Given the description of an element on the screen output the (x, y) to click on. 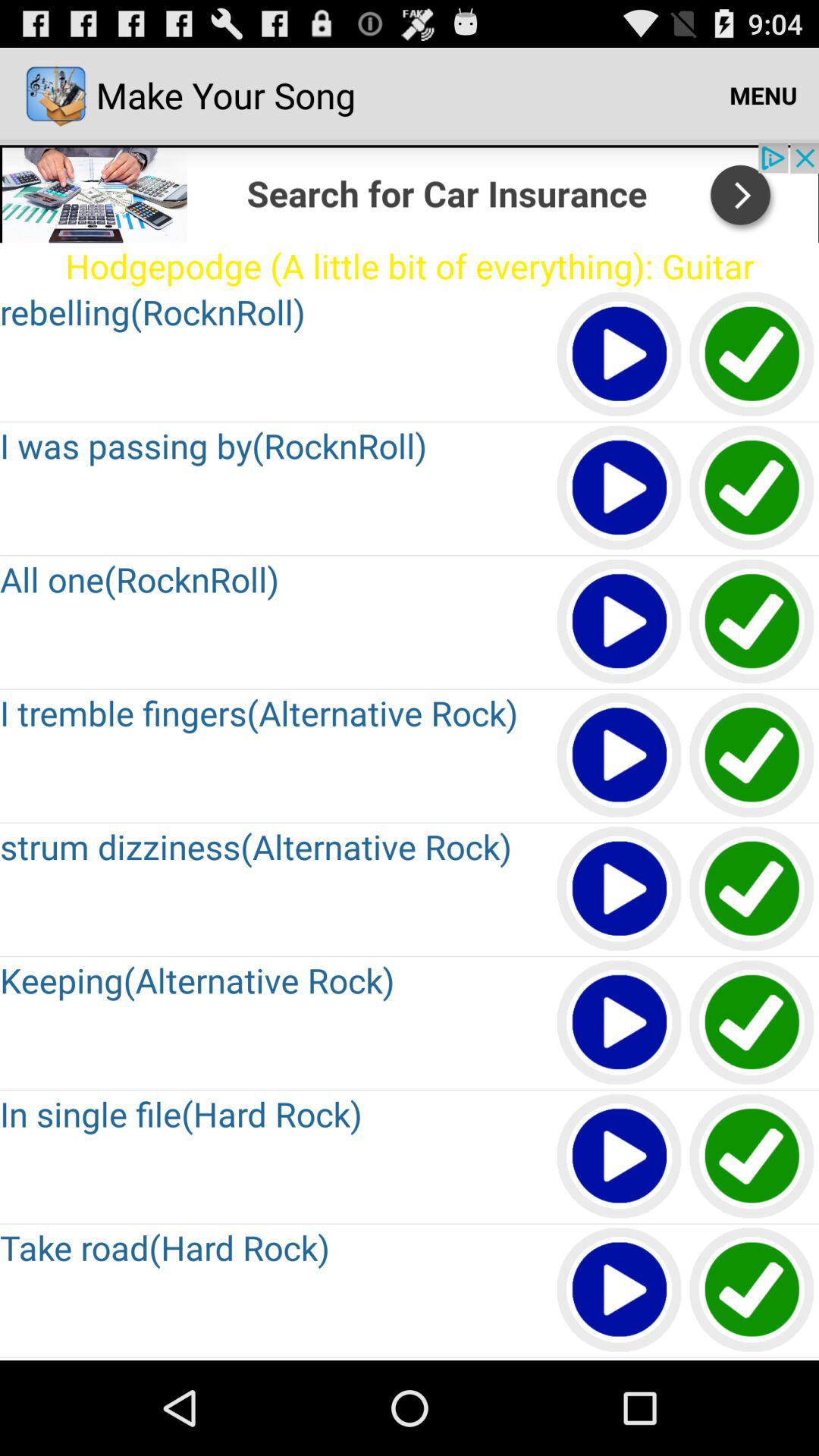
ok (752, 755)
